Given the description of an element on the screen output the (x, y) to click on. 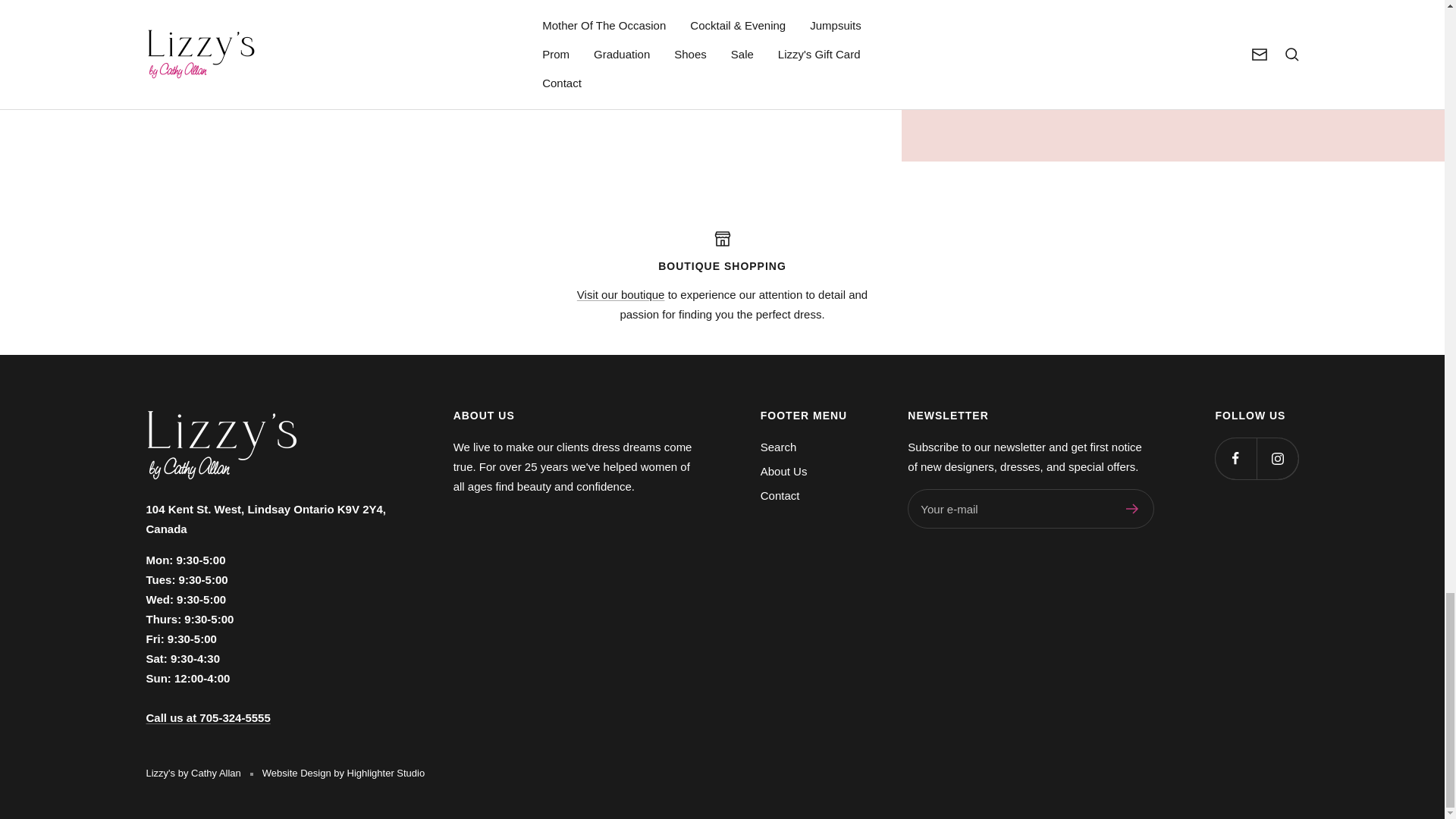
tel:705-324-5555 (207, 717)
Register (1131, 508)
Contact (620, 294)
